Given the description of an element on the screen output the (x, y) to click on. 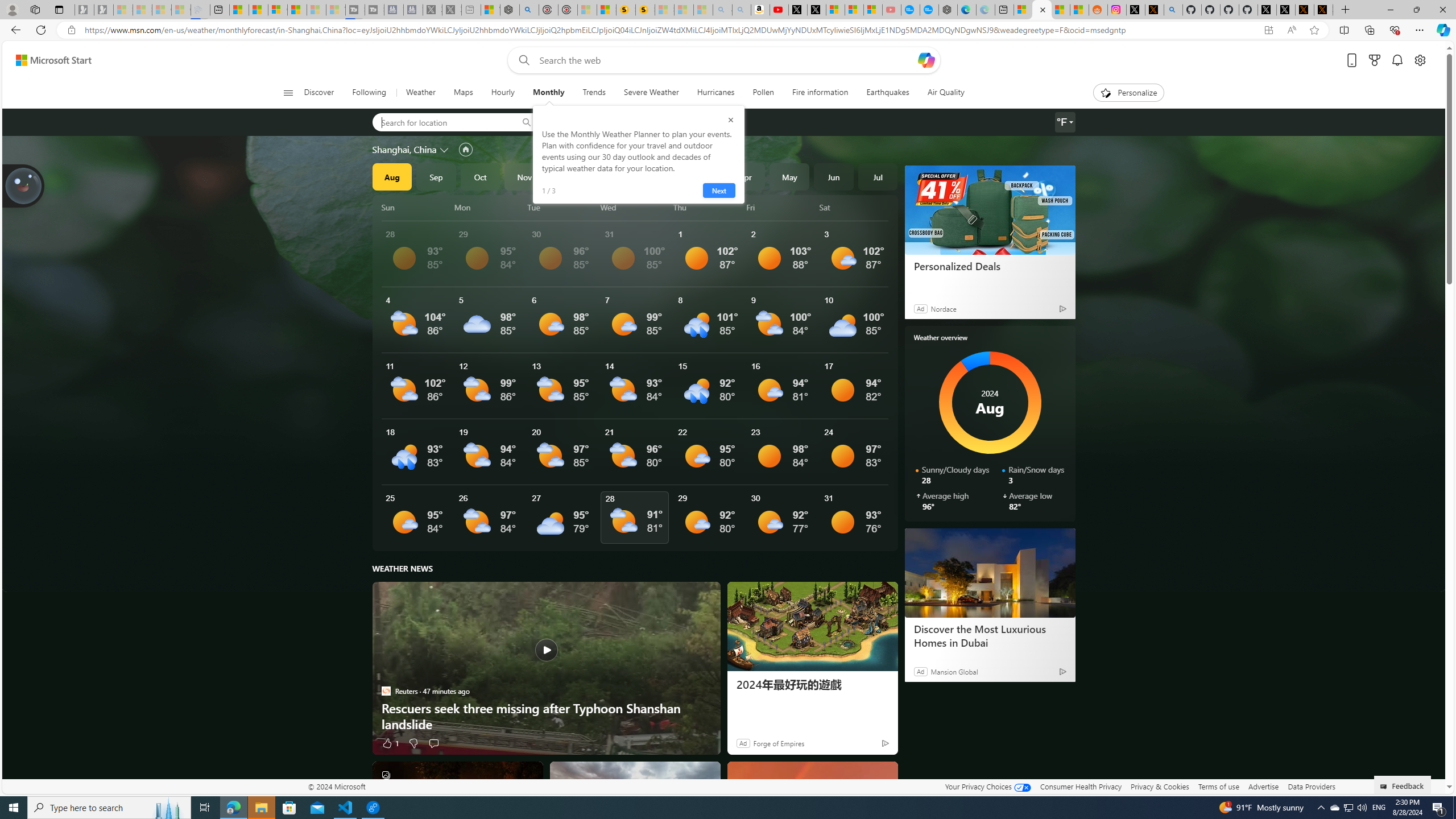
help.x.com | 524: A timeout occurred (1154, 9)
Jun (833, 176)
Hurricanes (715, 92)
Search for location (440, 122)
Air Quality (940, 92)
Join us in planting real trees to help our planet! (23, 184)
Fri (780, 207)
